Given the description of an element on the screen output the (x, y) to click on. 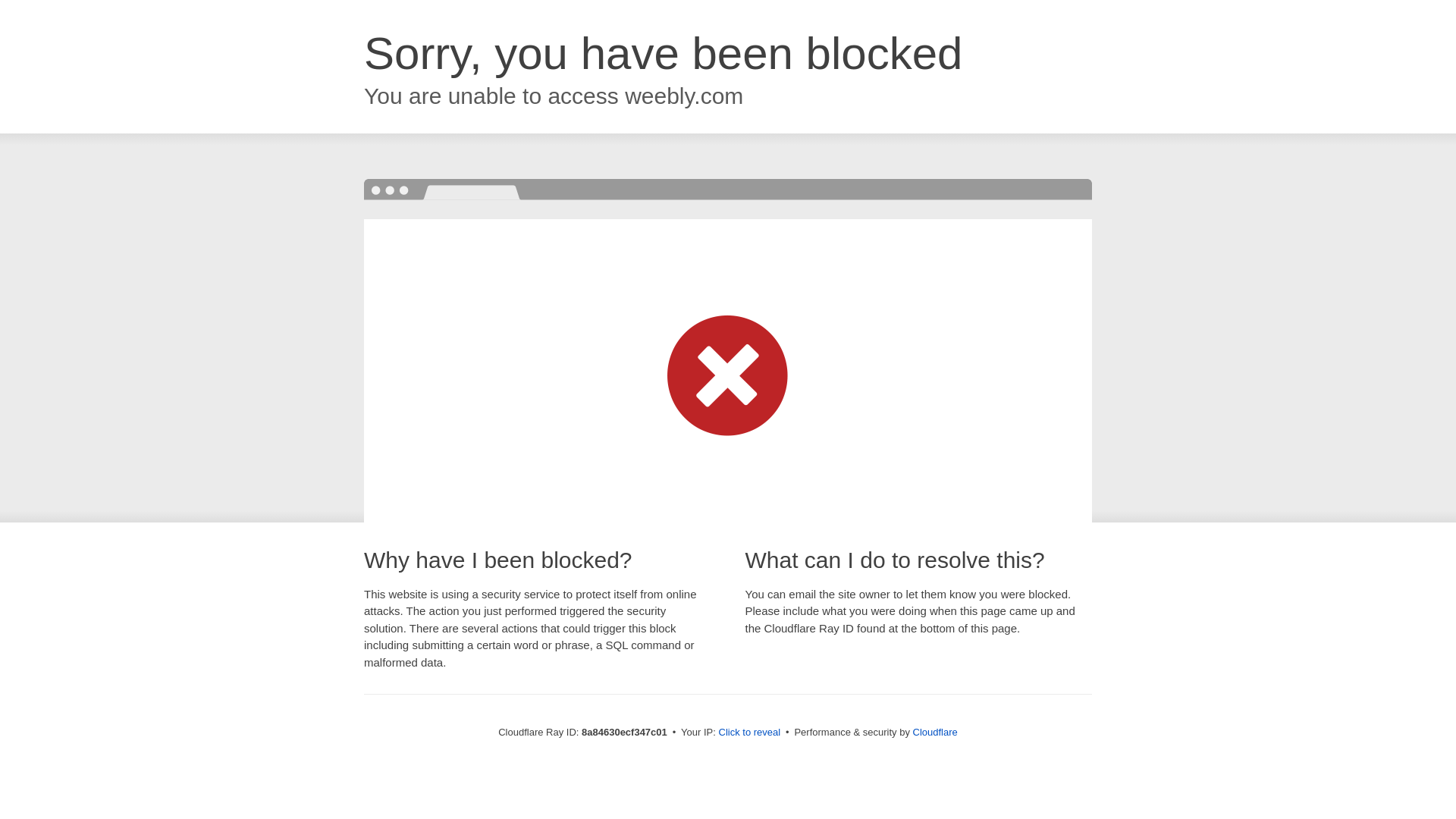
Click to reveal (749, 732)
Cloudflare (935, 731)
